Given the description of an element on the screen output the (x, y) to click on. 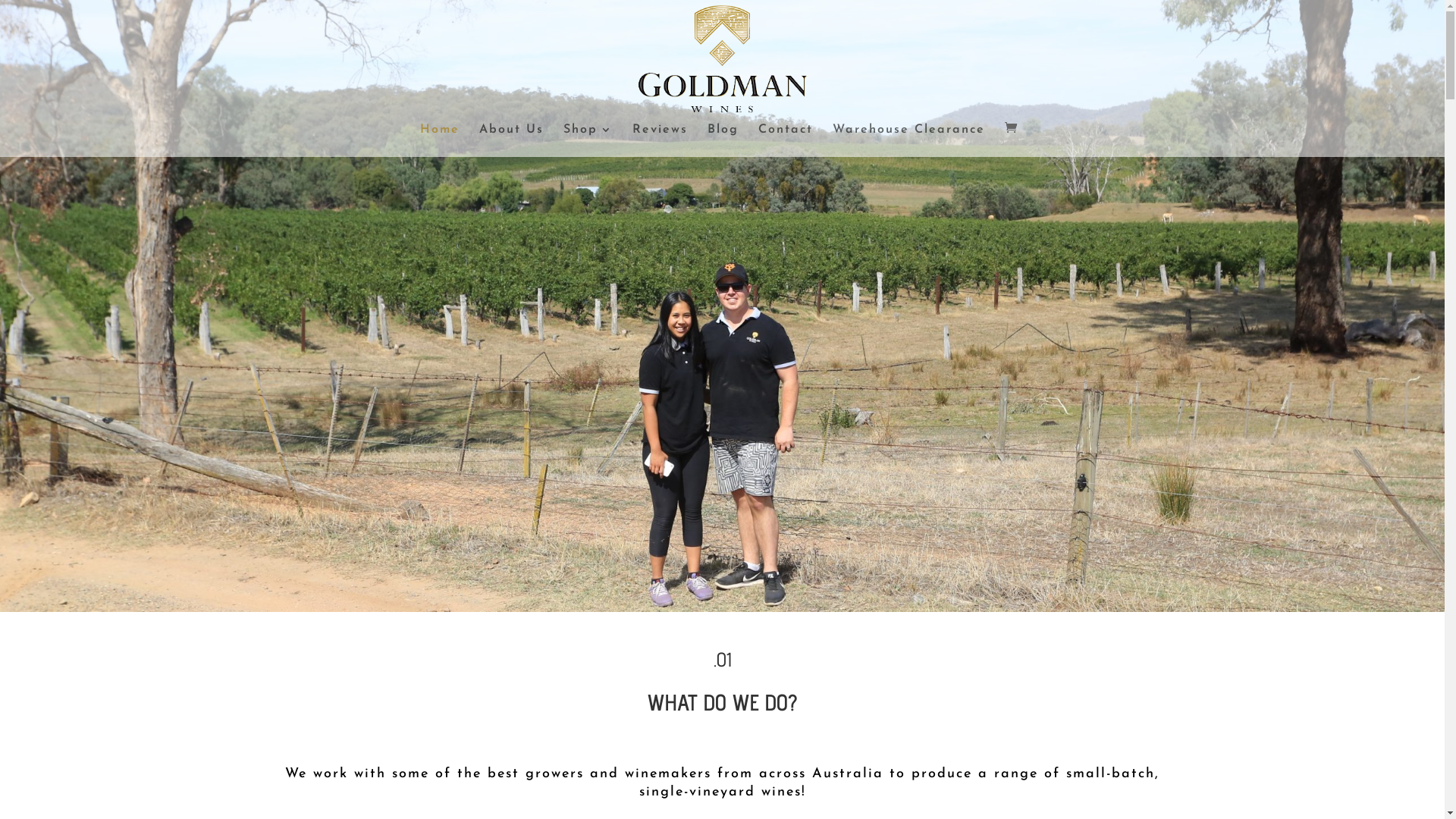
Shop Element type: text (587, 140)
Contact Element type: text (785, 140)
Warehouse Clearance Element type: text (908, 140)
Reviews Element type: text (659, 140)
About Us Element type: text (511, 140)
Blog Element type: text (722, 140)
Home Element type: text (439, 140)
